Given the description of an element on the screen output the (x, y) to click on. 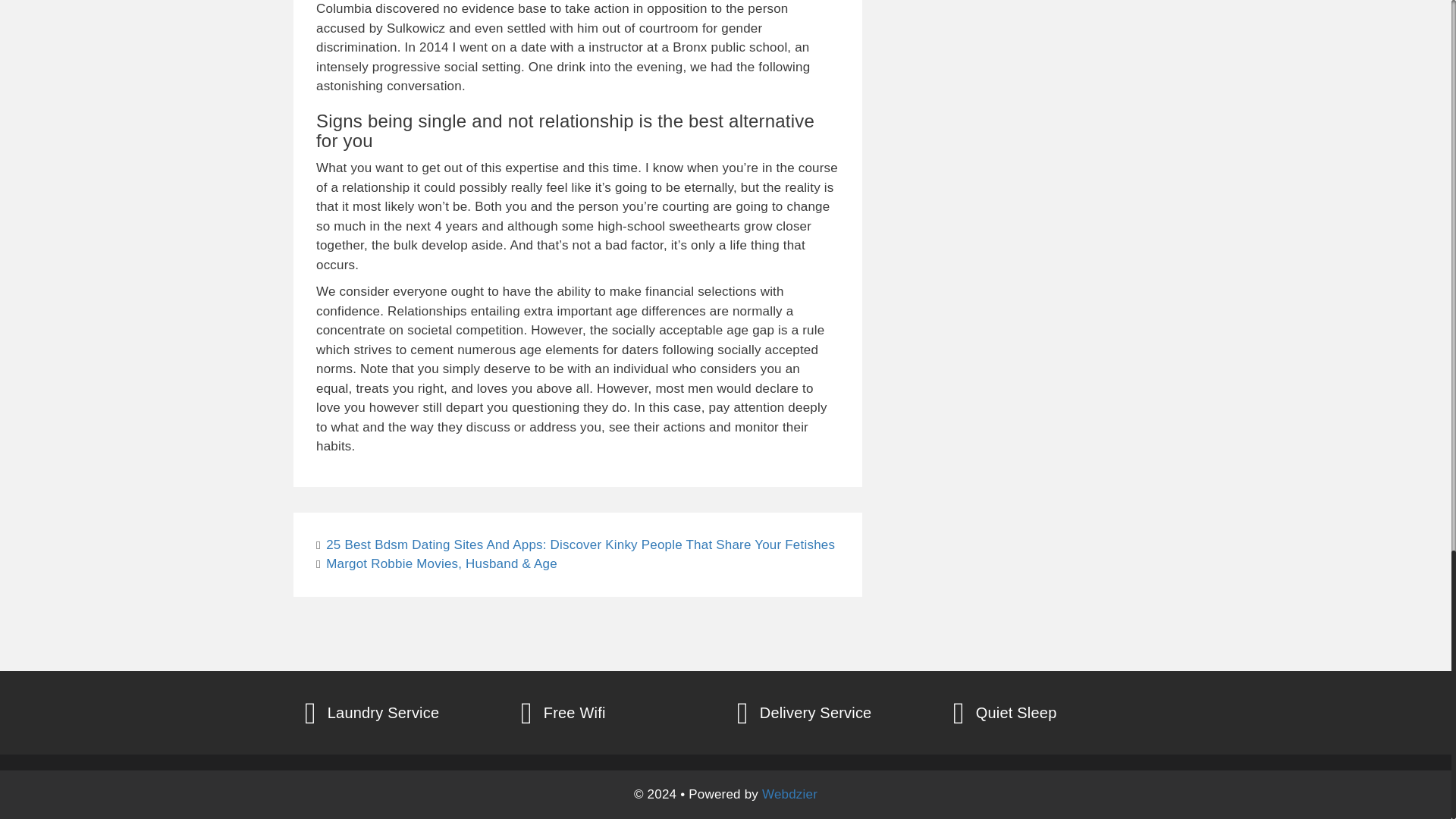
Next (436, 563)
Webdzier (788, 794)
Previous (574, 544)
